Given the description of an element on the screen output the (x, y) to click on. 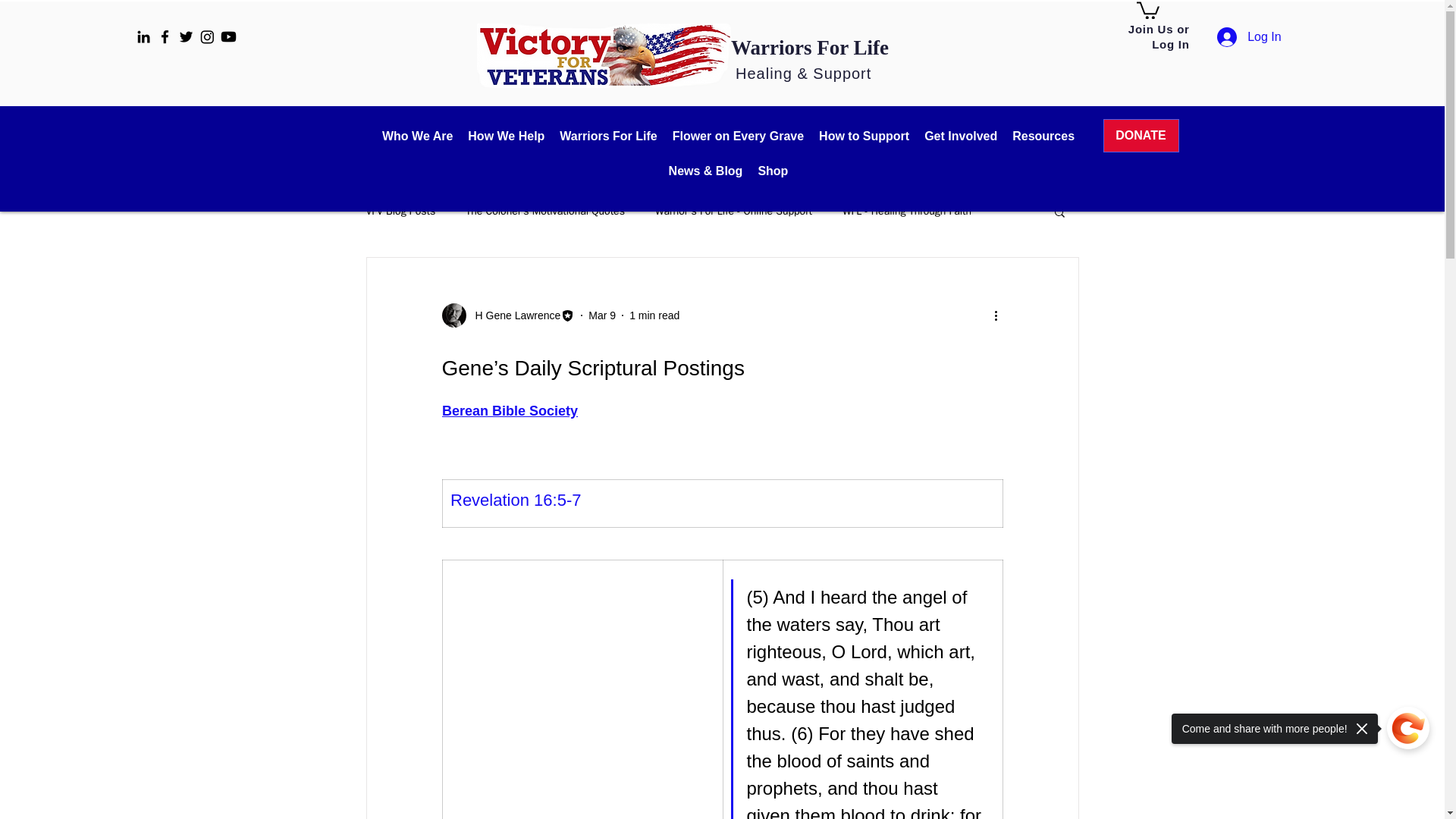
Warriors For Life (607, 136)
Flower on Every Grave (737, 136)
Mar 9 (601, 315)
How We Help (505, 136)
How to Support (863, 136)
Who We Are (417, 136)
Log In (1249, 36)
Get Involved (960, 136)
H Gene Lawrence (512, 315)
1 min read (653, 315)
